Given the description of an element on the screen output the (x, y) to click on. 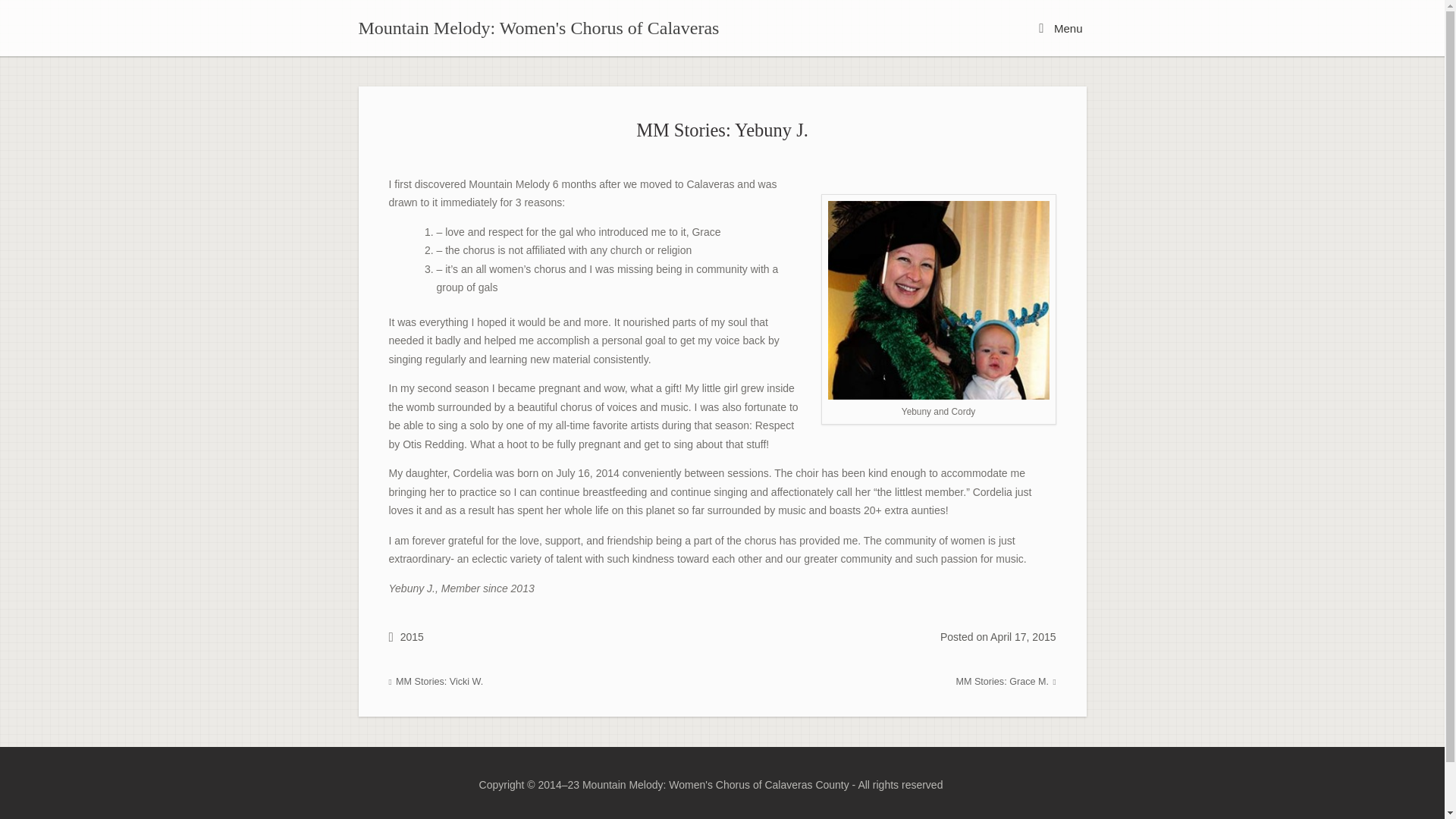
Menu (1060, 27)
Mountain Melody: Women's Chorus of Calaveras (538, 27)
8:12 pm (1022, 636)
April 17, 2015 (1022, 636)
MM Stories: Vicki W. (435, 681)
2015 (411, 636)
MM Stories: Grace M. (1005, 681)
Permalink to MM Stories: Yebuny J. (722, 129)
MM Stories: Yebuny J. (722, 129)
Mountain Melody: Women's Chorus of Calaveras (538, 27)
